Given the description of an element on the screen output the (x, y) to click on. 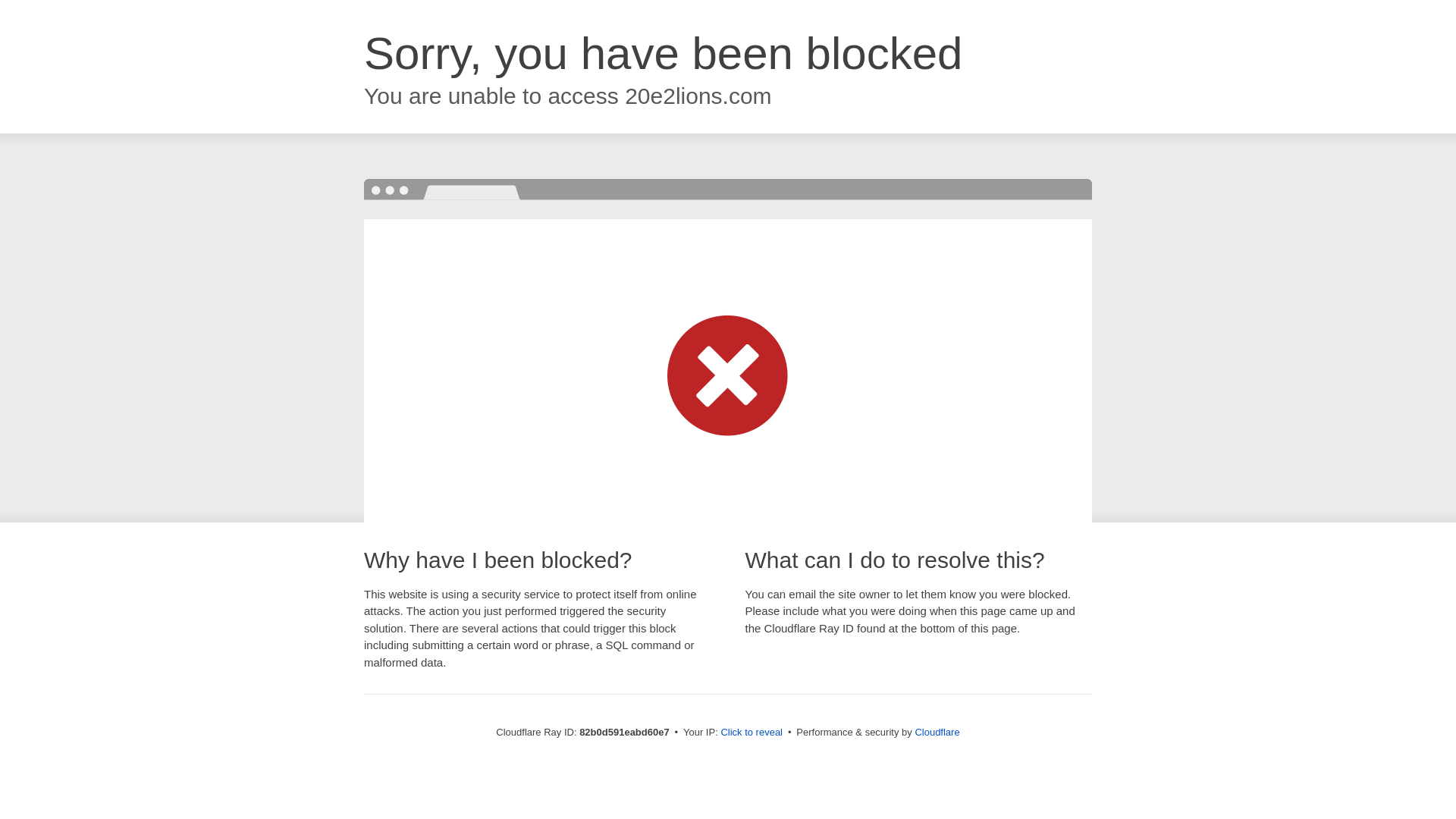
Cloudflare Element type: text (936, 731)
Click to reveal Element type: text (751, 732)
